Given the description of an element on the screen output the (x, y) to click on. 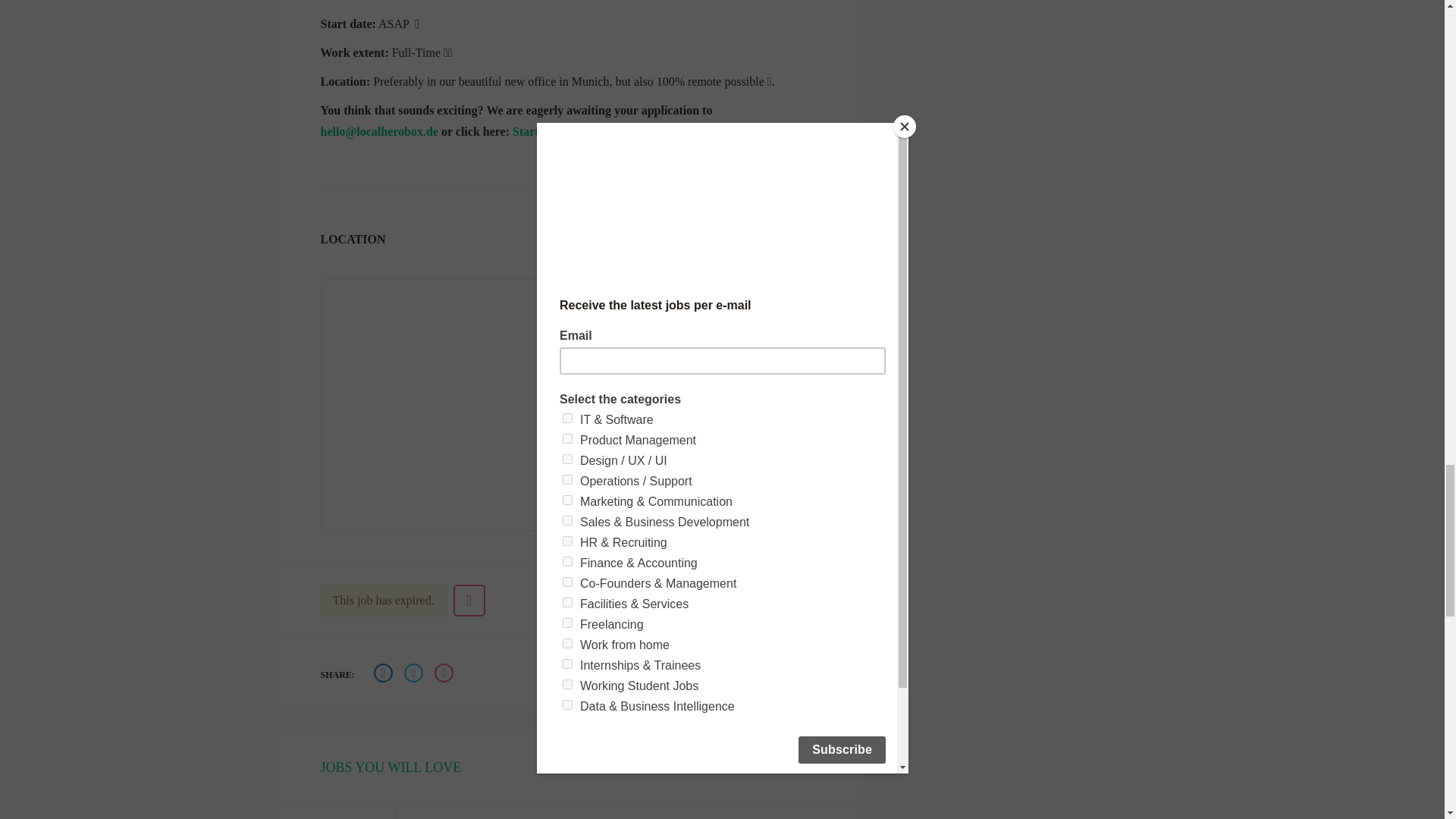
Share on Facebook (385, 674)
Share on Linkedin (445, 674)
Share on Twitter (415, 674)
